Given the description of an element on the screen output the (x, y) to click on. 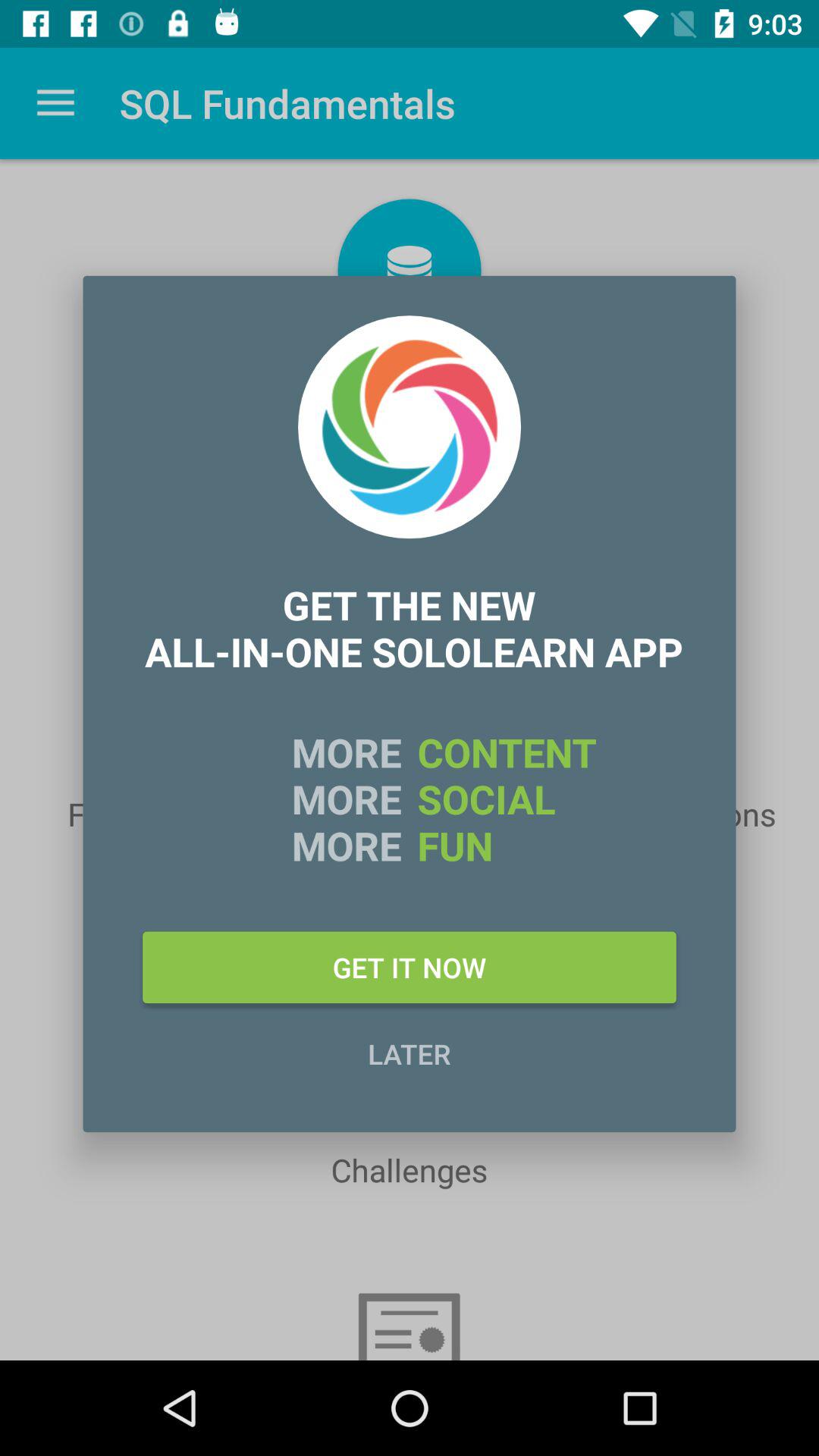
choose the icon at the bottom (409, 1053)
